Given the description of an element on the screen output the (x, y) to click on. 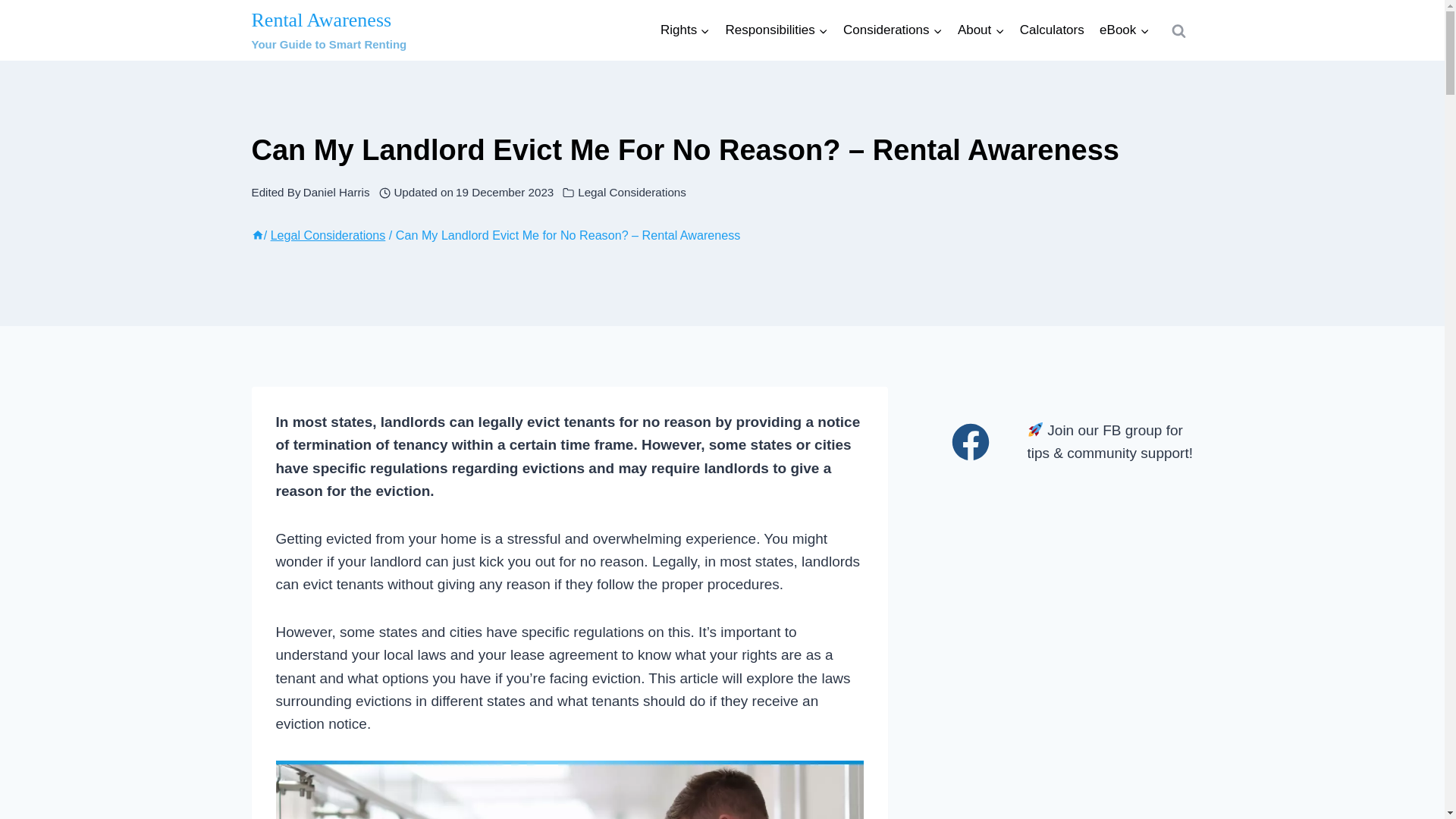
Can My Landlord Evict Me for No Reason? - Rental Awareness (570, 789)
Legal Considerations (327, 234)
Legal Considerations (631, 192)
eBook (1124, 30)
Rights (329, 30)
Daniel Harris (684, 30)
About (335, 192)
Considerations (980, 30)
Responsibilities (892, 30)
Calculators (776, 30)
